Given the description of an element on the screen output the (x, y) to click on. 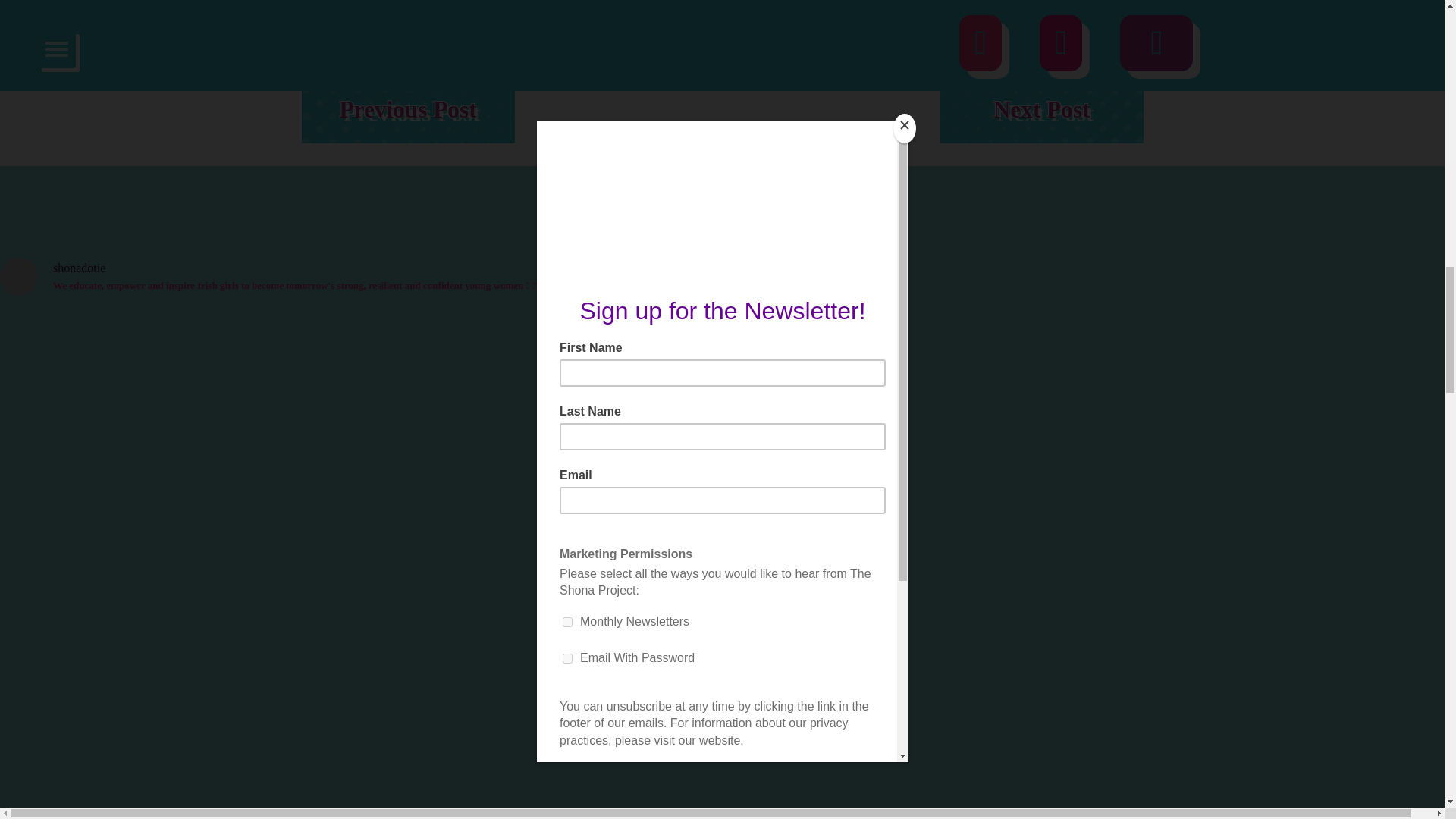
Share on LinkedIn (467, 34)
Share on Pinterest (429, 34)
Share on Facebook (354, 34)
Share on Twitter (316, 34)
